Given the description of an element on the screen output the (x, y) to click on. 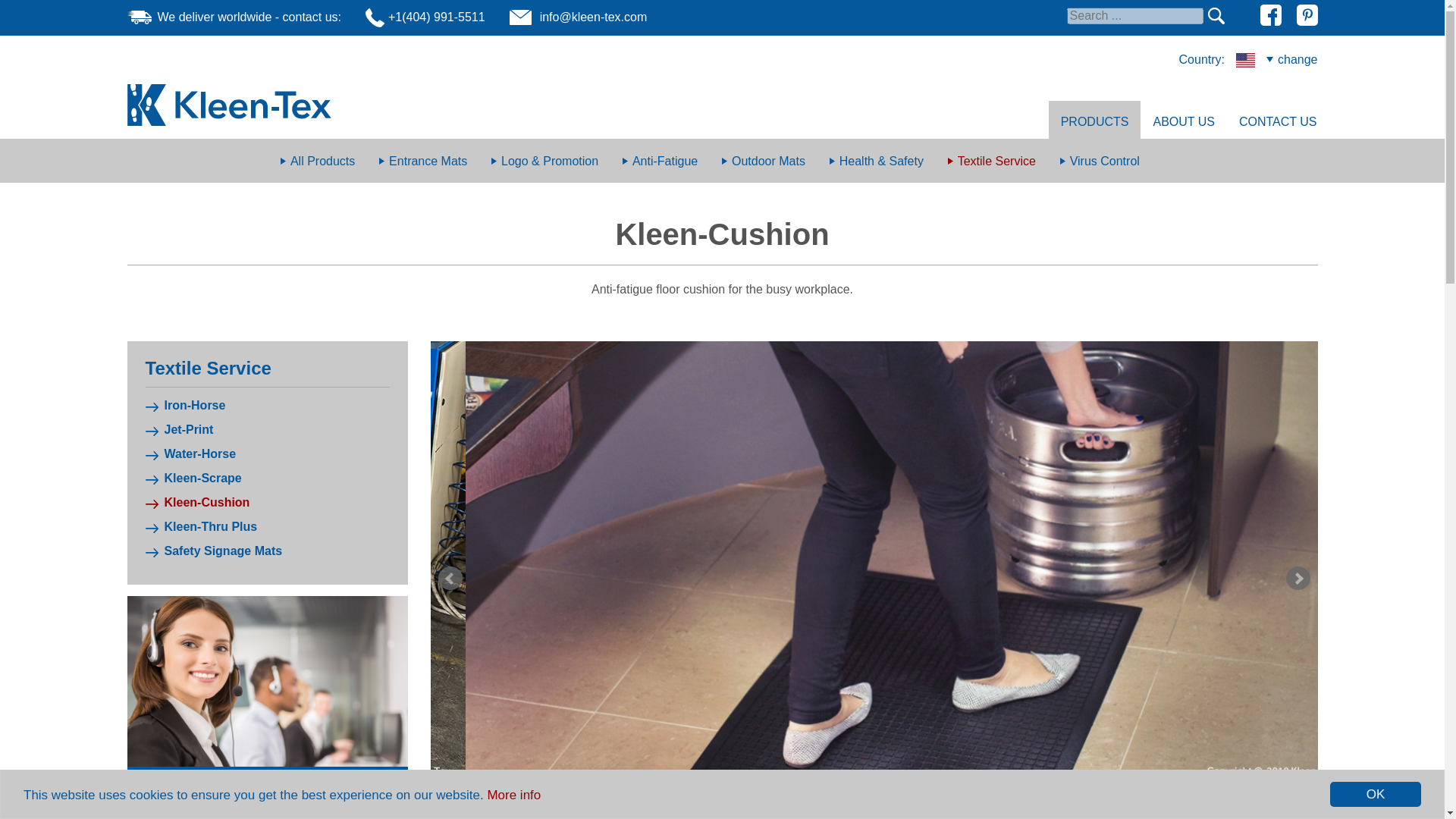
change (1291, 59)
CONTACT US (1278, 119)
Contact Kleen-Tex (267, 604)
PRODUCTS (1094, 119)
ABOUT US (1183, 119)
